Given the description of an element on the screen output the (x, y) to click on. 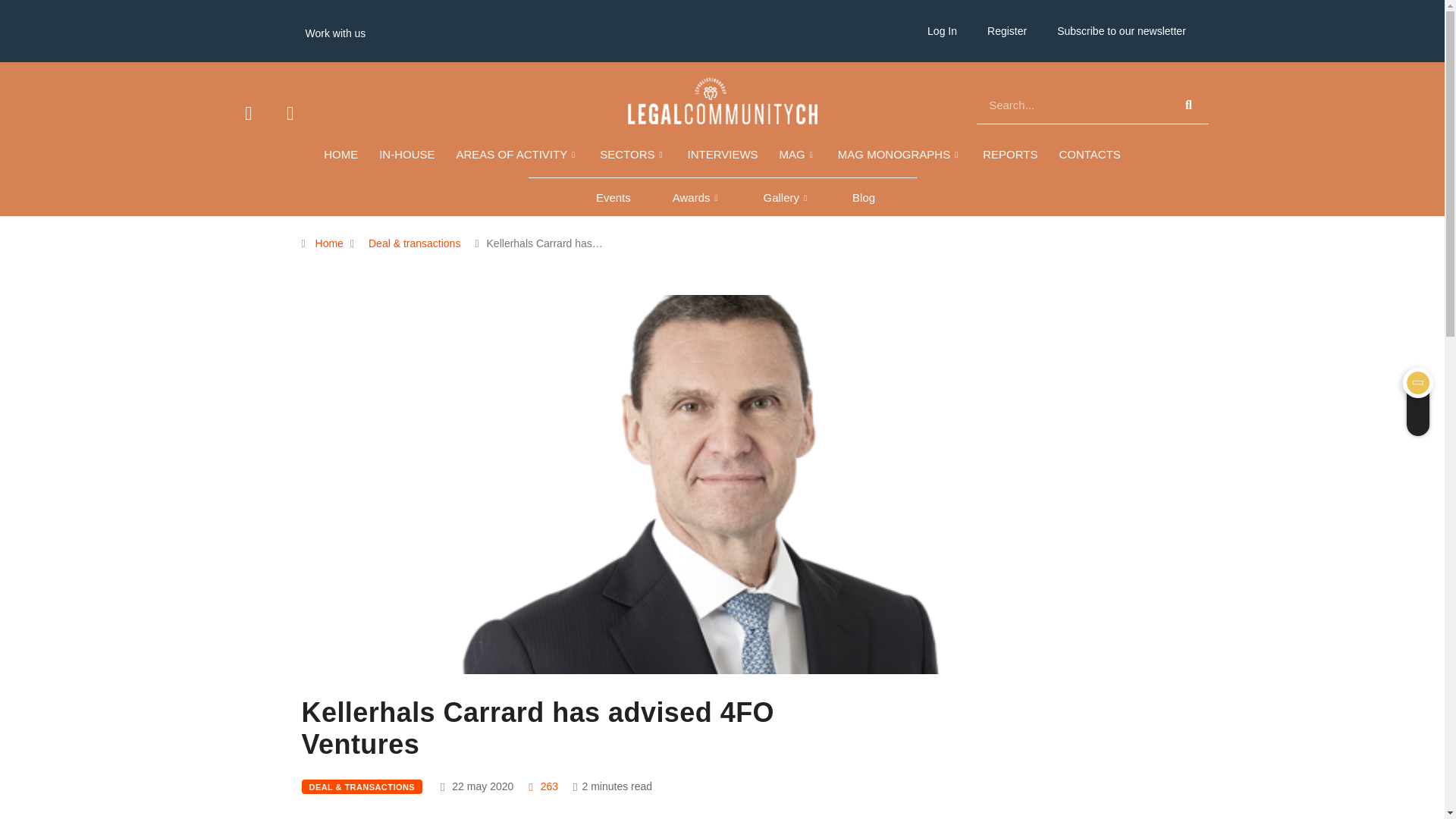
Log In (942, 30)
Subscribe to our newsletter (1121, 30)
Work with us (334, 33)
HOME (340, 154)
Register (1007, 30)
